Given the description of an element on the screen output the (x, y) to click on. 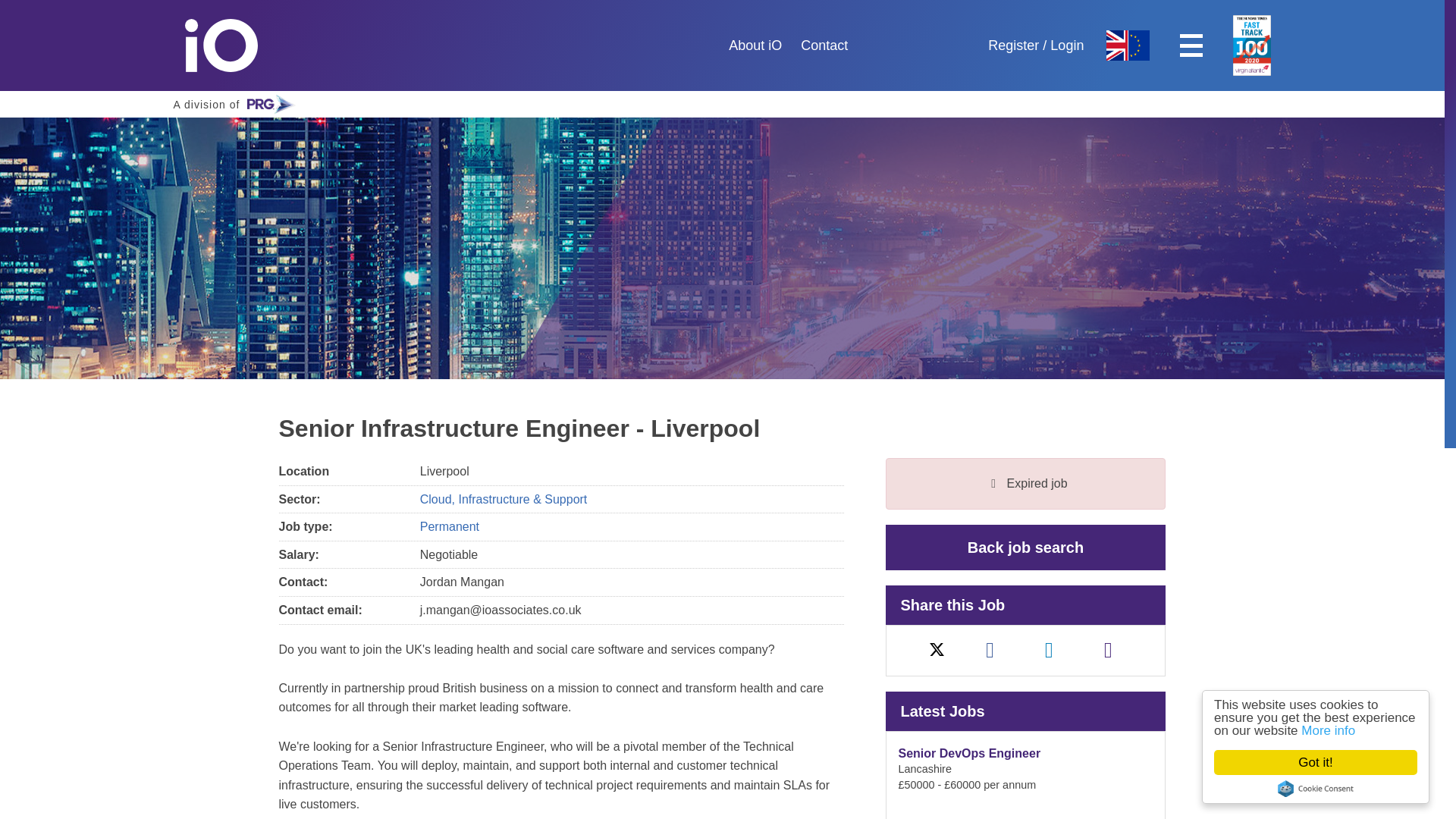
About iO (755, 45)
Contact (237, 103)
Go to the Homepage (823, 45)
Login (233, 45)
Cookie Consent plugin for the EU cookie law (1066, 45)
More info (1326, 788)
Register (1341, 730)
Got it! (1013, 45)
Back job search (1329, 762)
Email (1025, 547)
Facebook (1108, 650)
LinkedIn (989, 650)
IO Associates (1048, 650)
Permanent (233, 45)
